Given the description of an element on the screen output the (x, y) to click on. 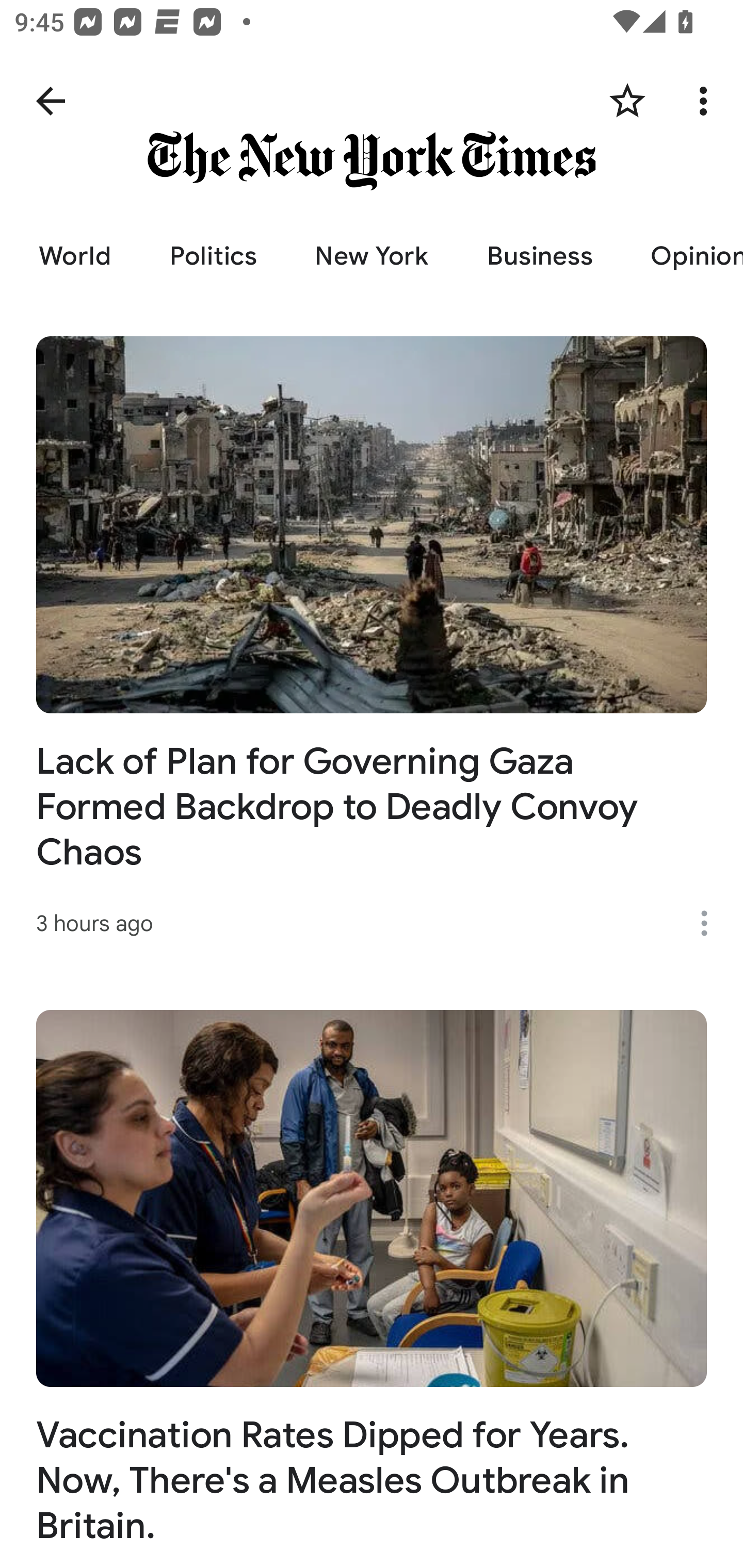
Navigate up (50, 101)
Follow (626, 101)
More options (706, 101)
World (74, 256)
Politics (213, 256)
New York (371, 256)
Business (539, 256)
Opinion (682, 256)
More options (711, 923)
